Given the description of an element on the screen output the (x, y) to click on. 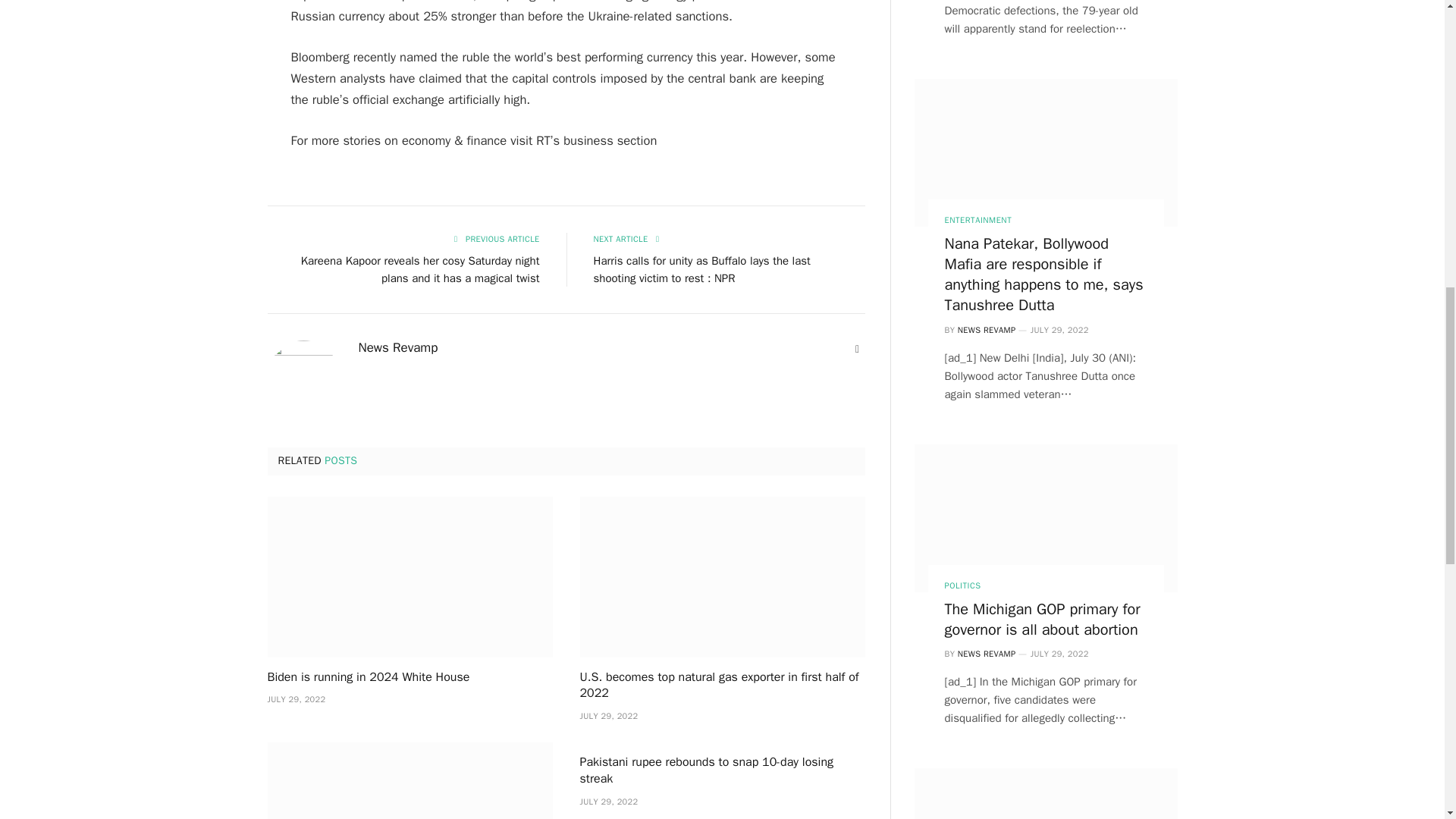
Biden is running in 2024 White House (408, 677)
Biden is running in 2024 White House (408, 576)
Posts by News Revamp (398, 347)
News Revamp (398, 347)
Website (856, 349)
U.S. becomes top natural gas exporter in first half of 2022 (721, 685)
Website (856, 349)
